Given the description of an element on the screen output the (x, y) to click on. 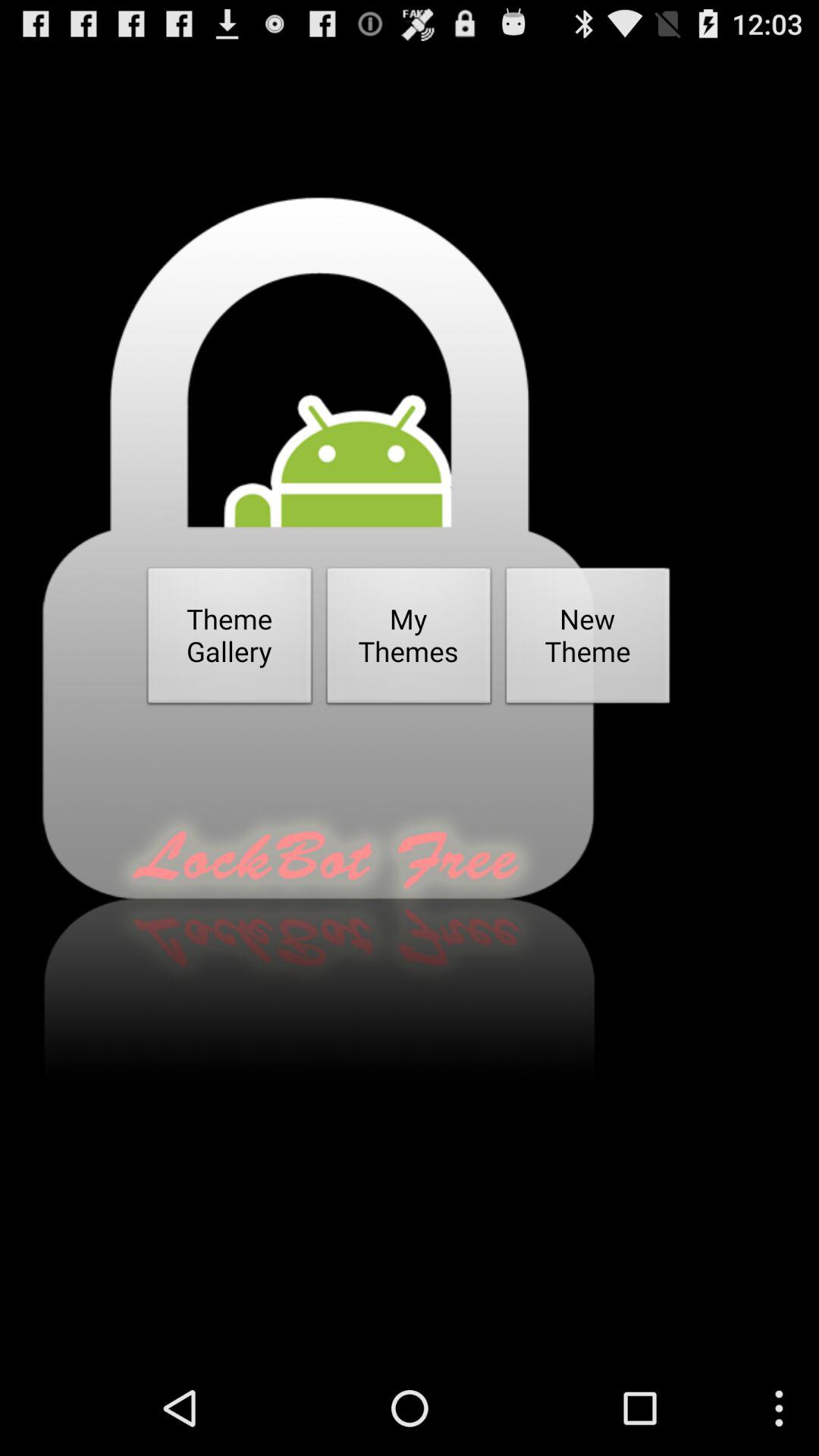
jump until the my themes icon (408, 639)
